Given the description of an element on the screen output the (x, y) to click on. 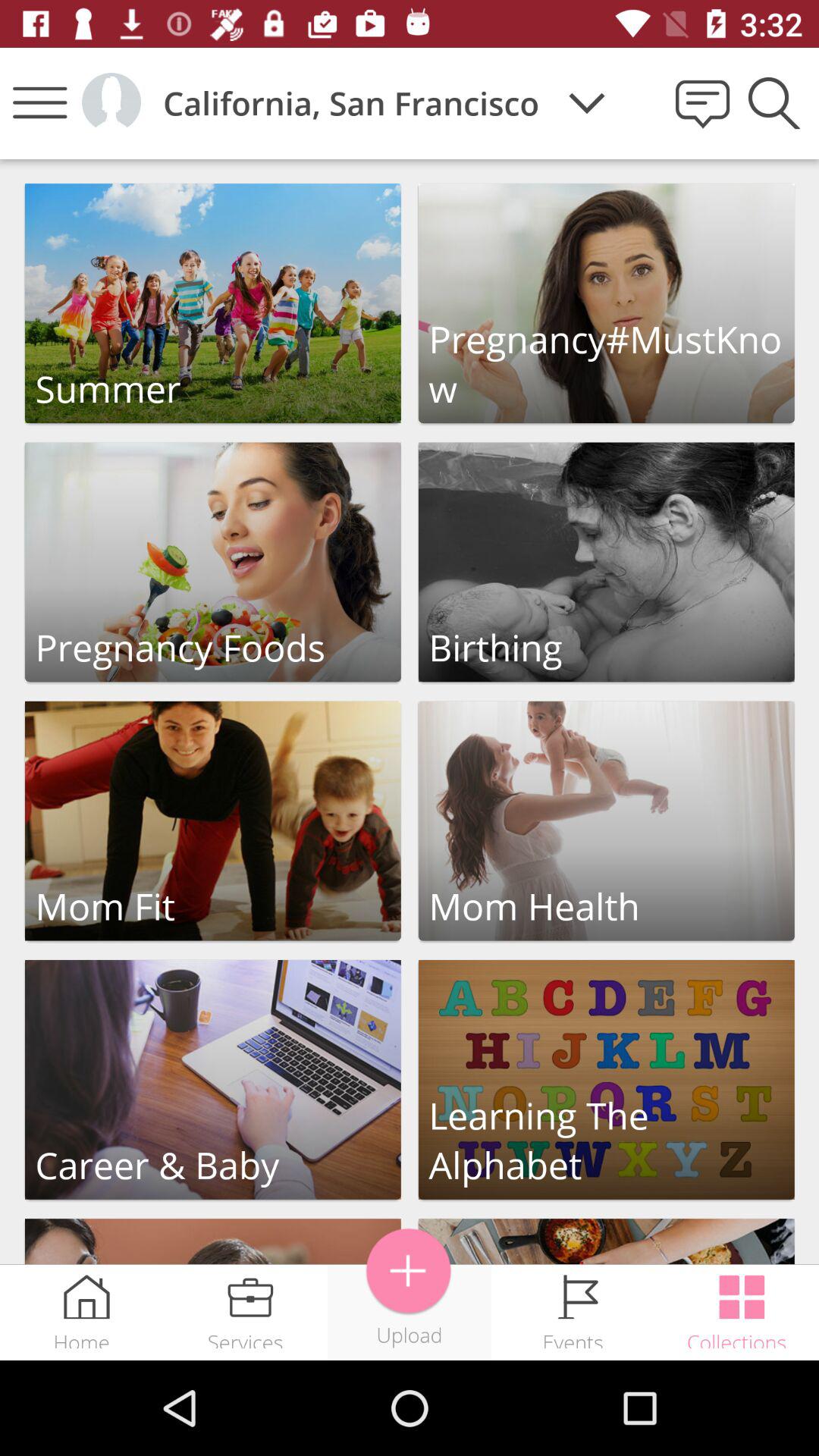
scroll until the california, san francisco icon (351, 102)
